Given the description of an element on the screen output the (x, y) to click on. 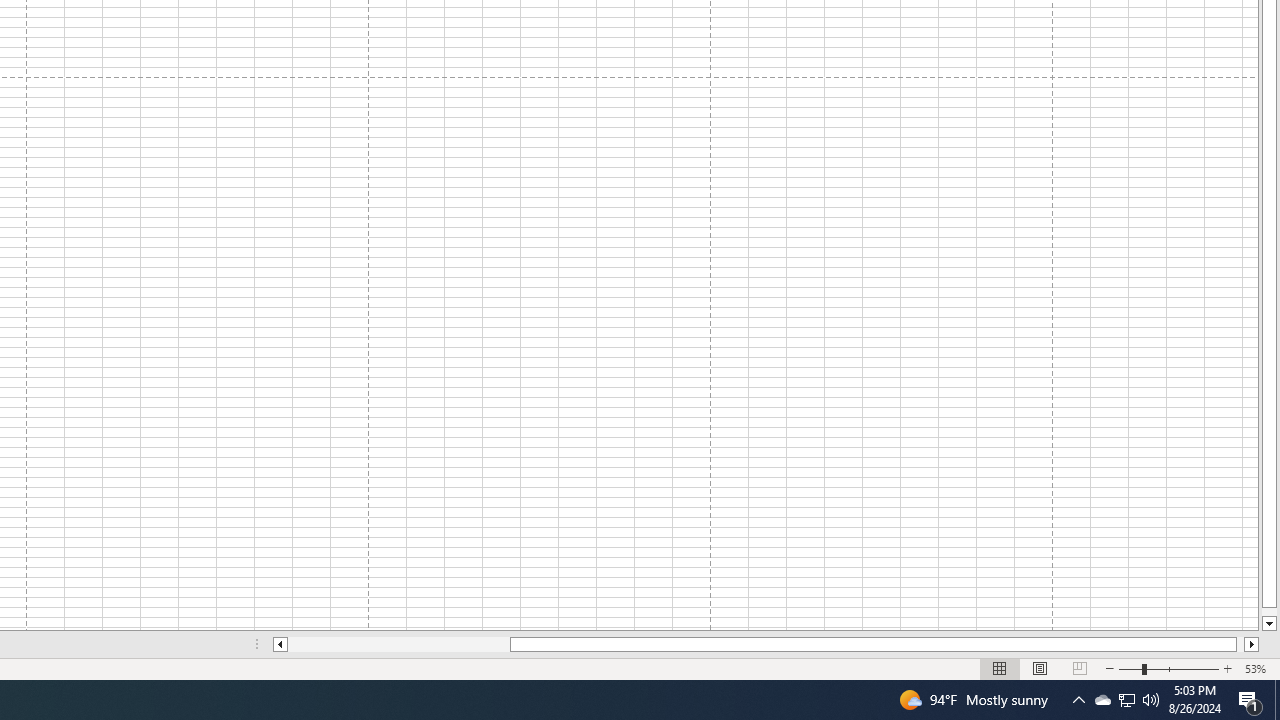
Page left (398, 644)
